Given the description of an element on the screen output the (x, y) to click on. 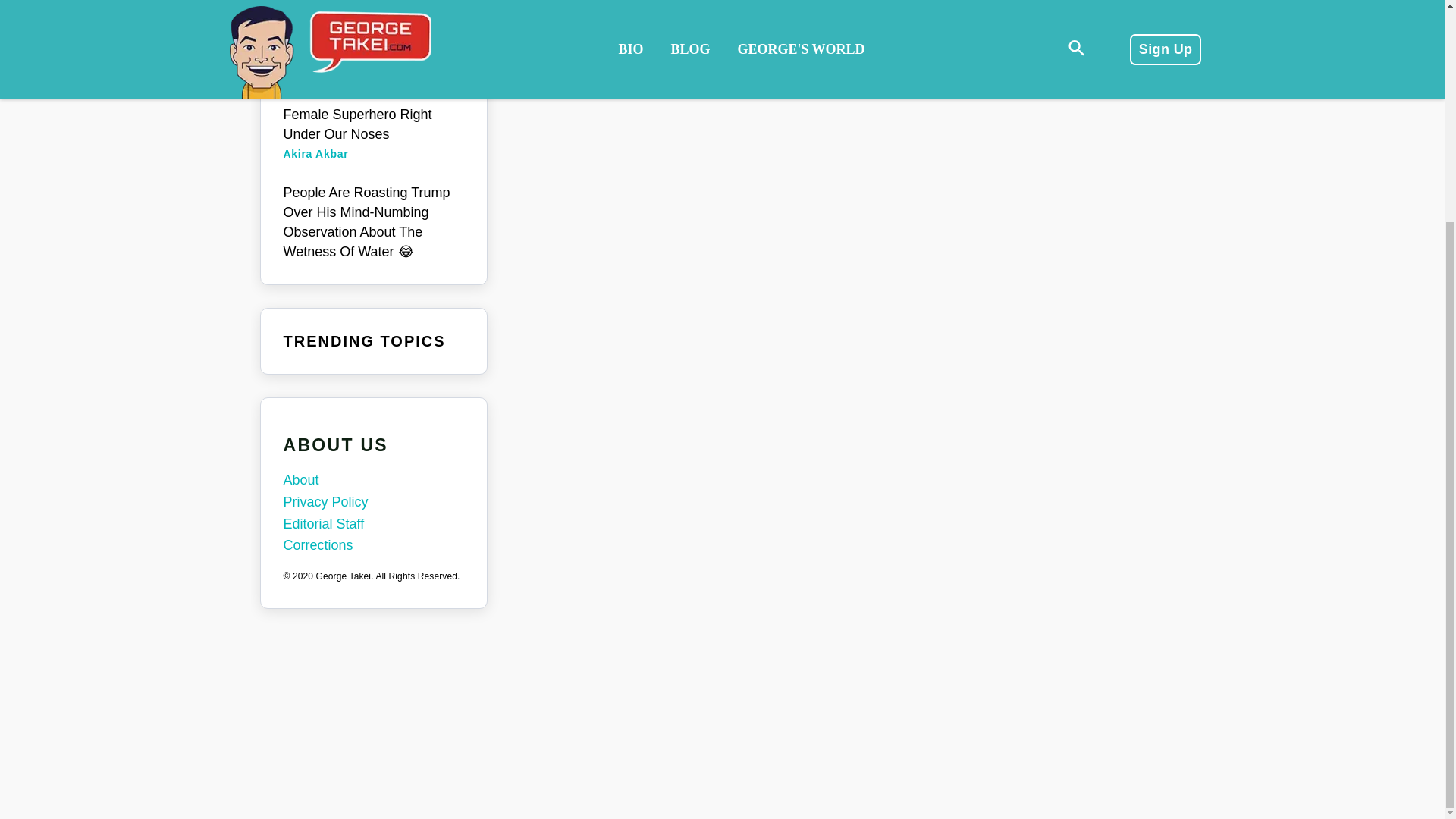
About (373, 480)
Privacy Policy (373, 502)
Akira Akbar (316, 153)
Editorial Staff (373, 524)
TRENDING TOPICS (364, 340)
Corrections (373, 545)
